Given the description of an element on the screen output the (x, y) to click on. 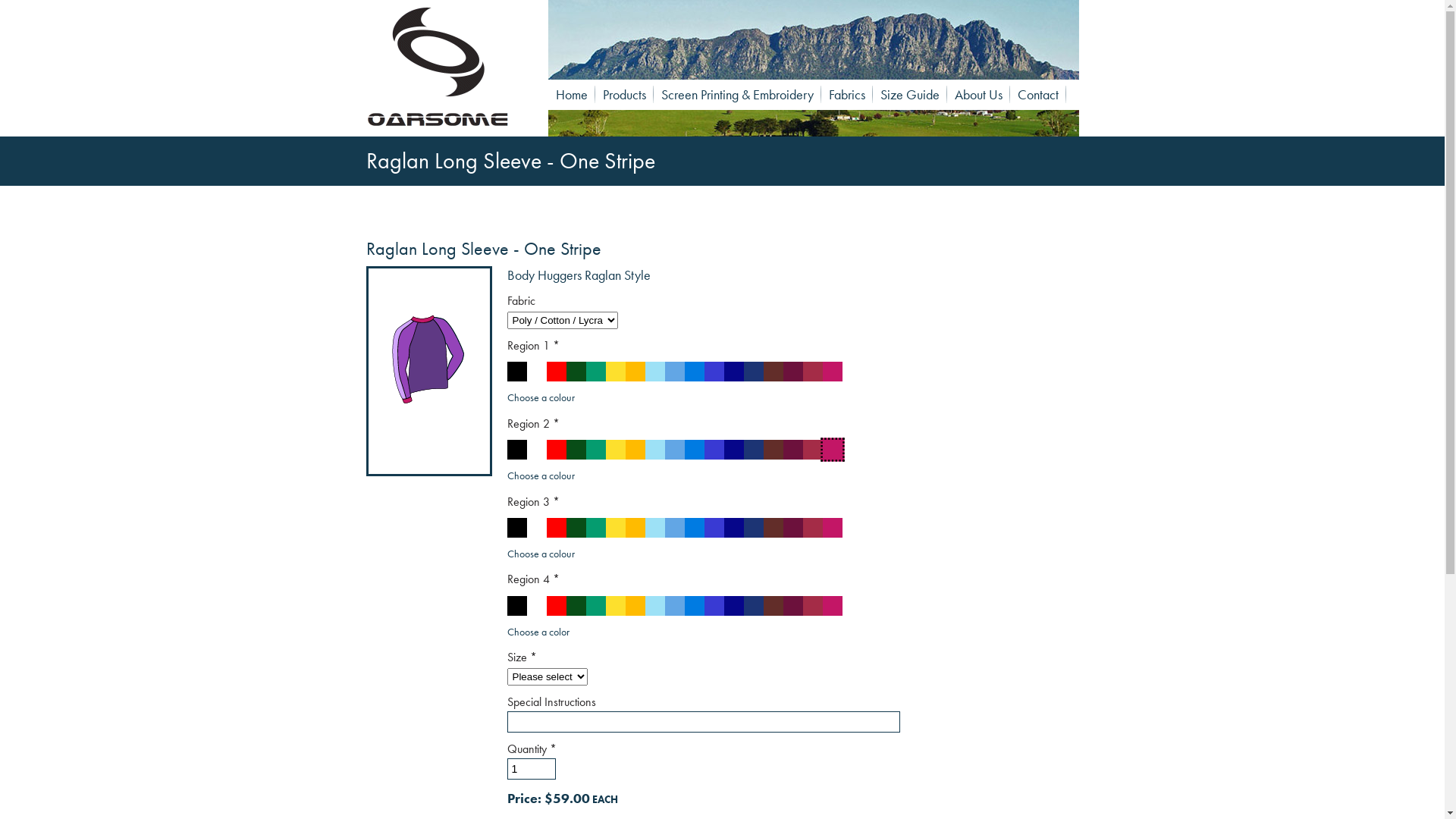
Screen Printing & Embroidery Element type: text (737, 94)
Products Element type: text (623, 94)
About Us Element type: text (977, 94)
Size Guide Element type: text (909, 94)
Fabrics Element type: text (846, 94)
Home Element type: text (570, 94)
Contact Element type: text (1038, 94)
